Given the description of an element on the screen output the (x, y) to click on. 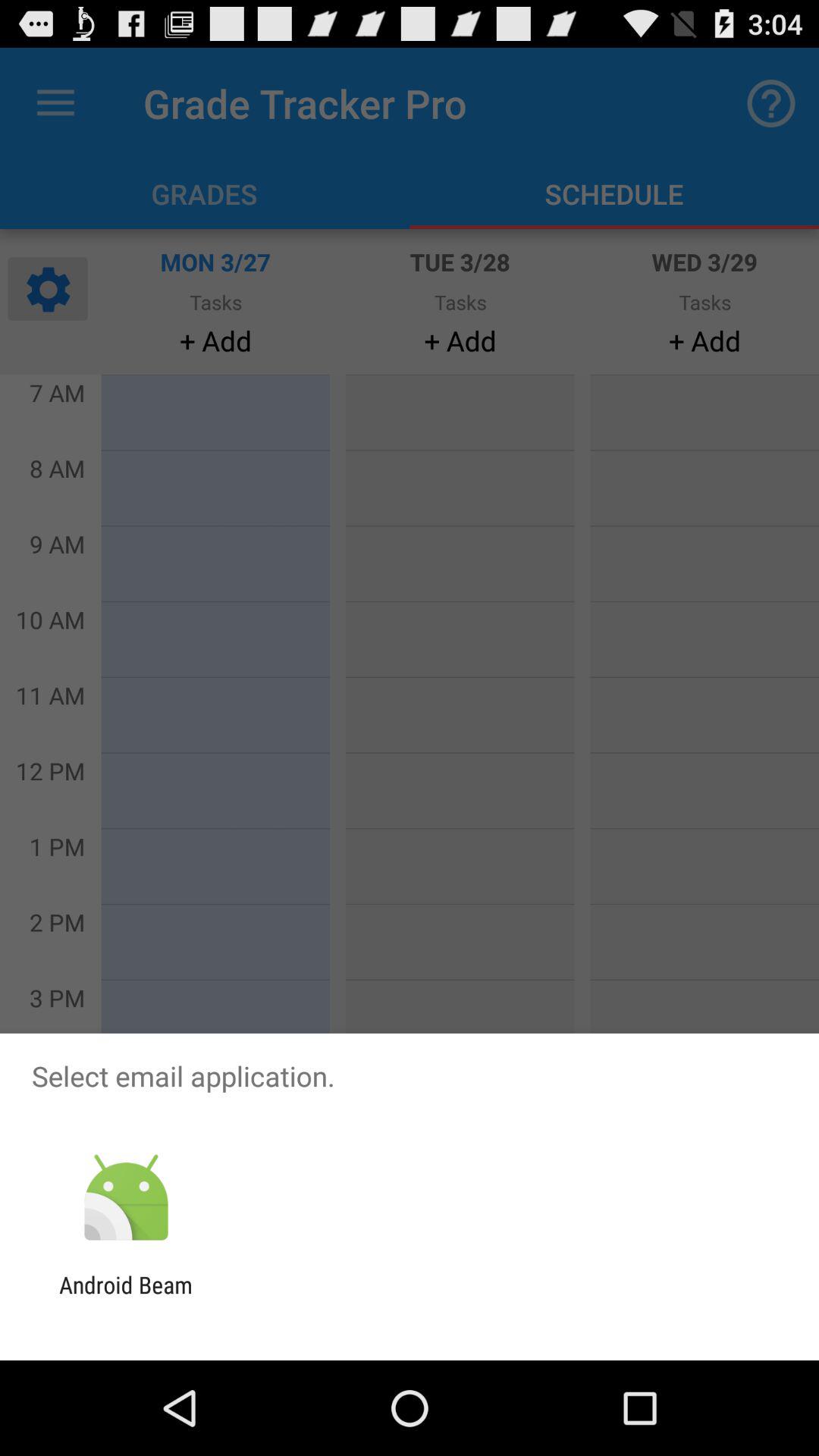
select the android beam icon (125, 1298)
